Given the description of an element on the screen output the (x, y) to click on. 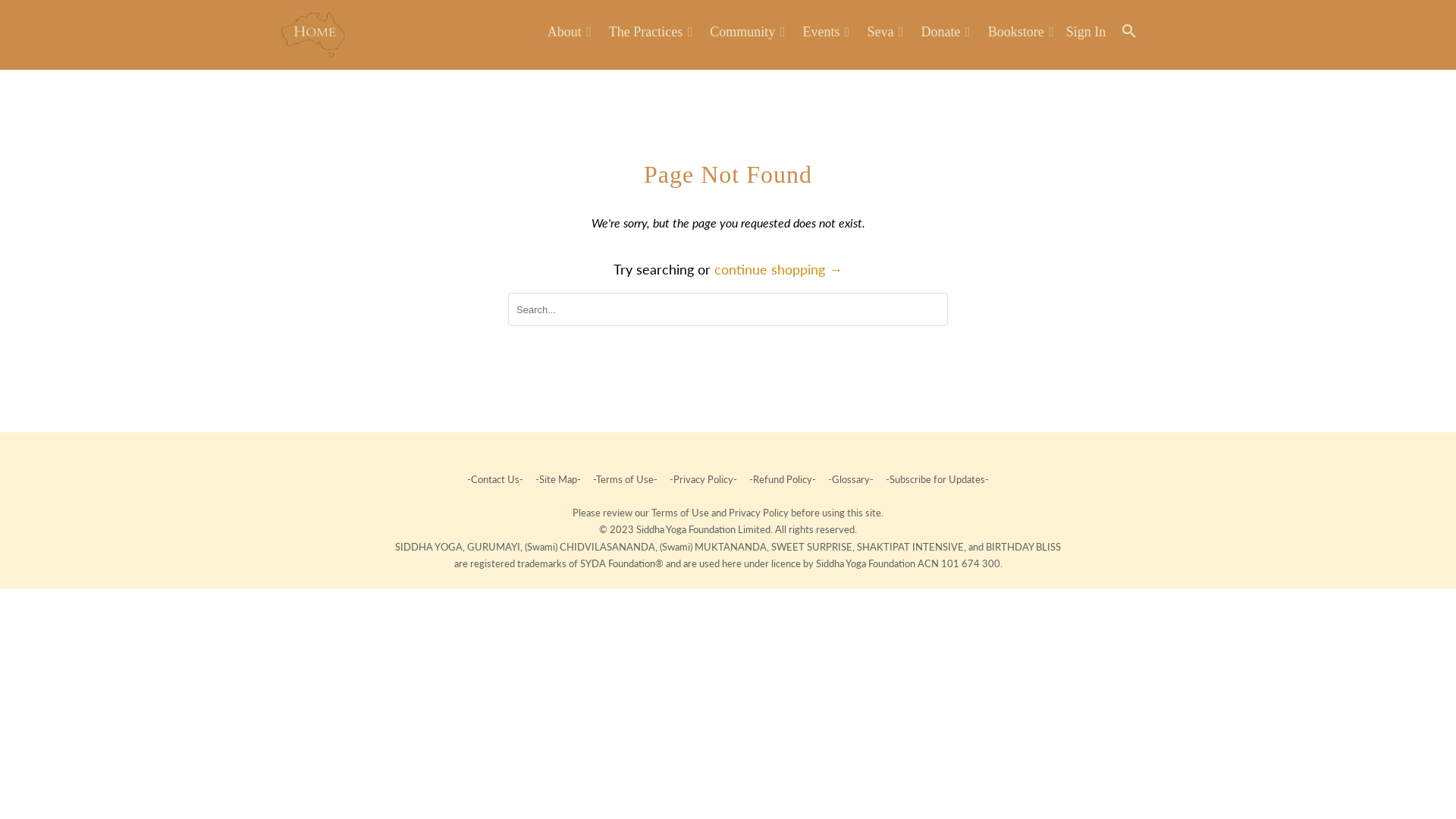
Privacy Policy Element type: text (759, 512)
-Subscribe for Updates- Element type: text (935, 479)
-Privacy Policy- Element type: text (703, 479)
Sign In Element type: text (1086, 34)
The Siddha Yoga Foundation Limited Element type: hover (312, 34)
Terms of Use Element type: text (681, 512)
-Refund Policy- Element type: text (782, 479)
-Contact Us- Element type: text (496, 479)
-Terms of Use- Element type: text (624, 479)
-Glossary- Element type: text (850, 479)
Search Element type: hover (1130, 34)
-Site Map- Element type: text (558, 479)
